Given the description of an element on the screen output the (x, y) to click on. 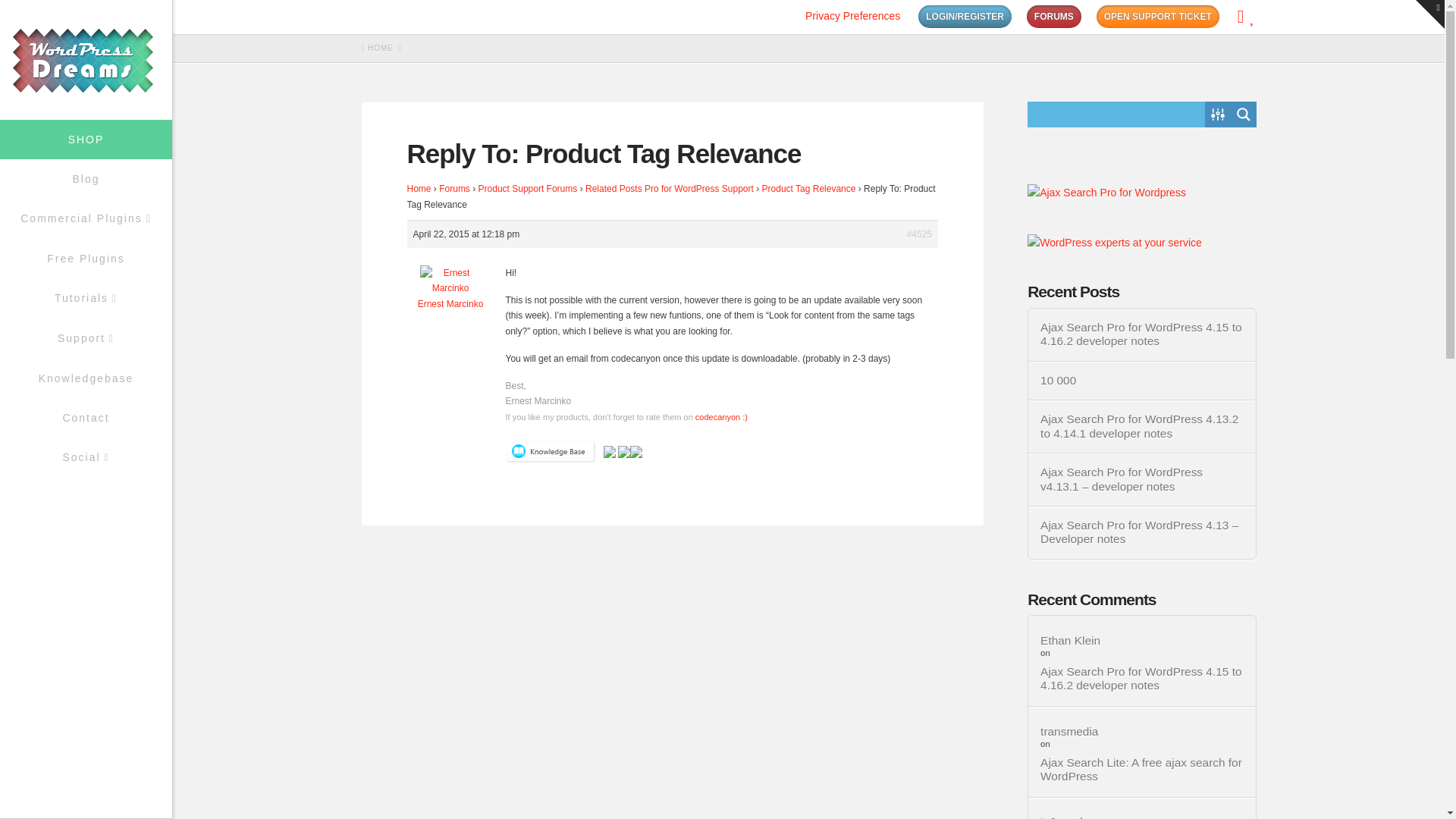
SHOP (85, 138)
Knowledgebase (85, 378)
View Ernest Marcinko's profile (449, 304)
FORUMS (1053, 15)
Product Tag Relevance (808, 188)
Logo (85, 60)
Social (85, 457)
Tutorials (85, 298)
HOME (377, 48)
Ernest Marcinko (449, 304)
Free Plugins (85, 258)
Contact (85, 417)
Home (418, 188)
Product Support Forums (528, 188)
shop (85, 138)
